Given the description of an element on the screen output the (x, y) to click on. 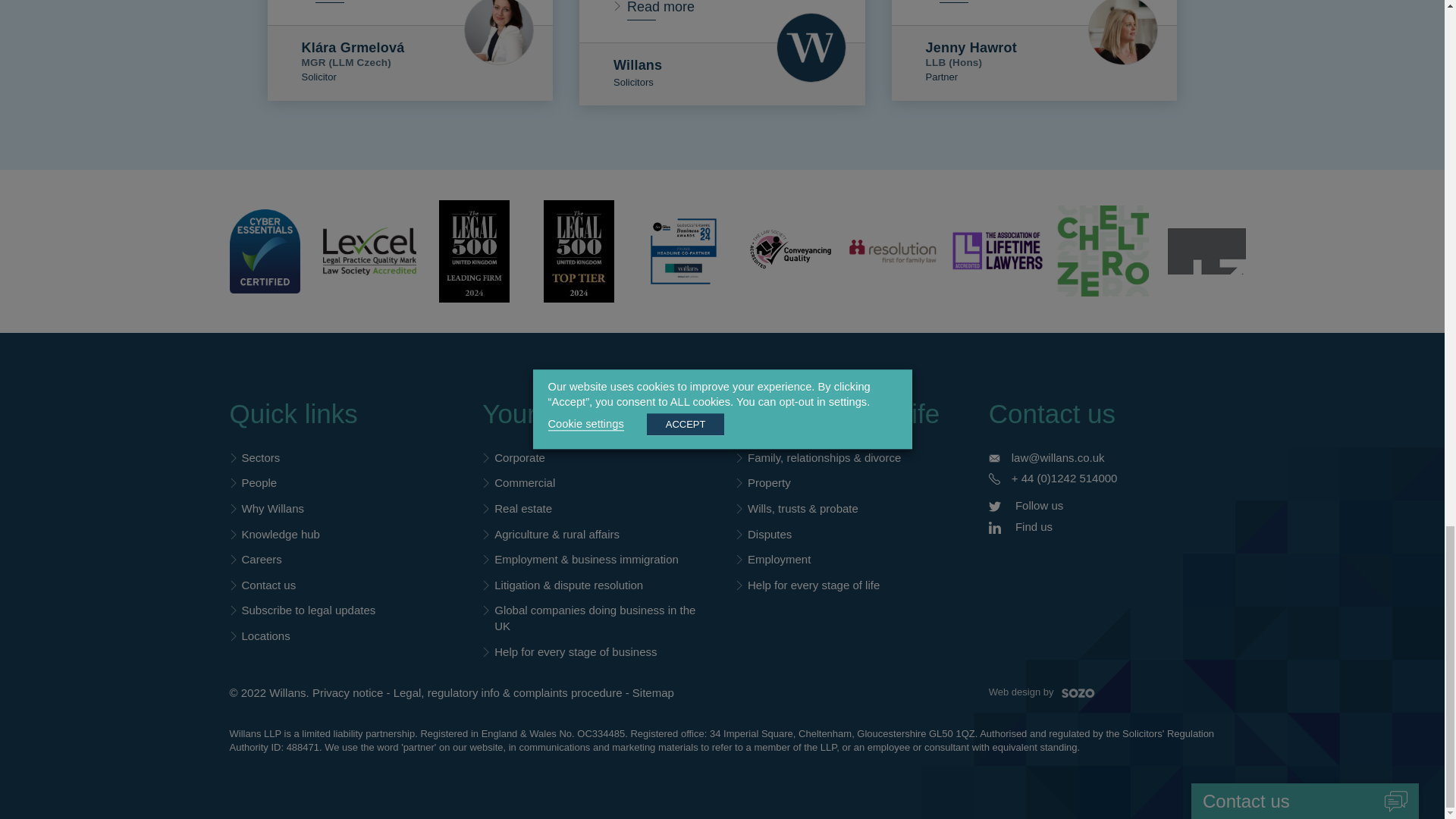
Cyber Essentials (263, 251)
